Given the description of an element on the screen output the (x, y) to click on. 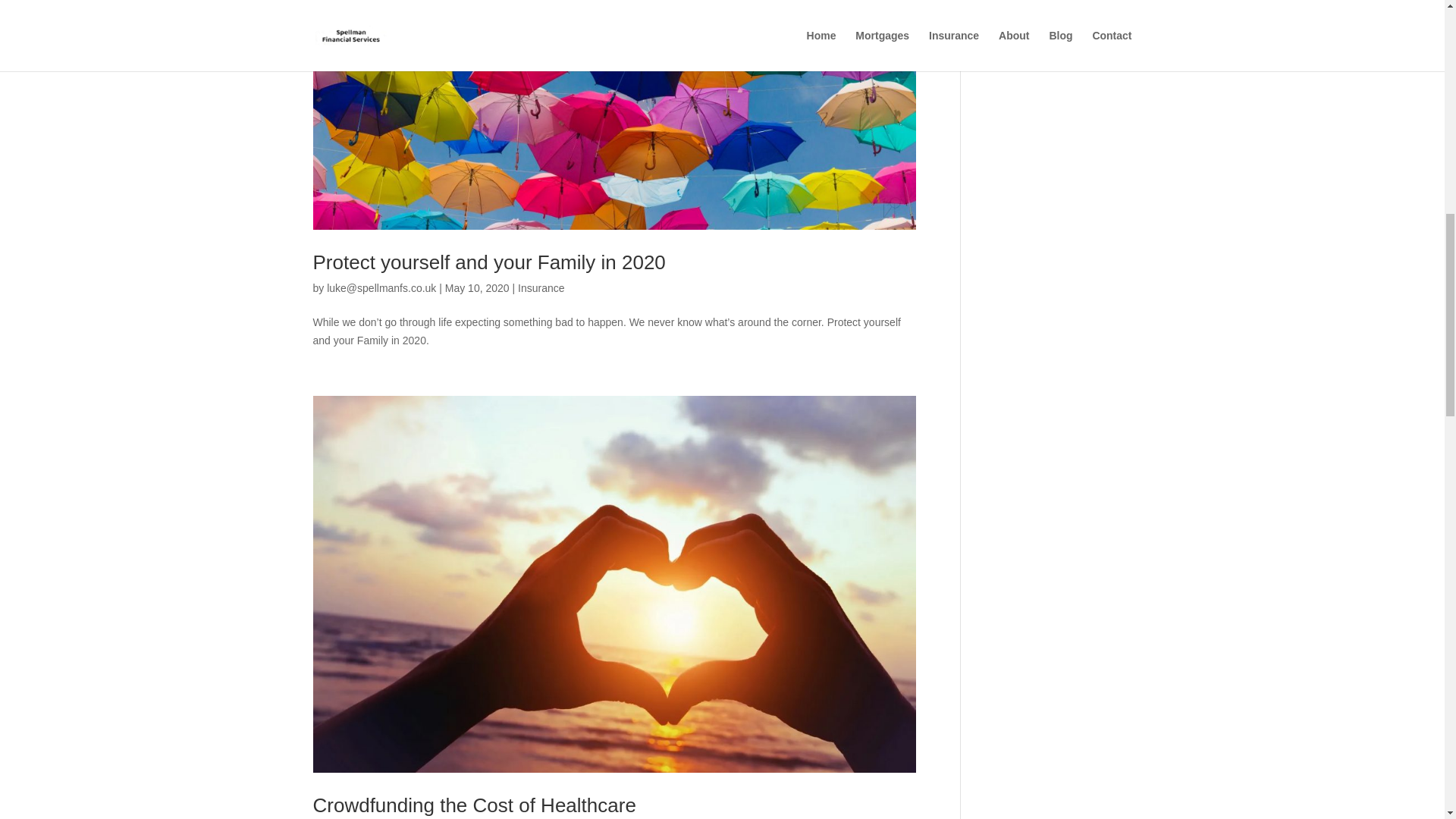
Crowdfunding the Cost of Healthcare (473, 804)
Insurance (541, 287)
Protect yourself and your Family in 2020 (489, 261)
